Given the description of an element on the screen output the (x, y) to click on. 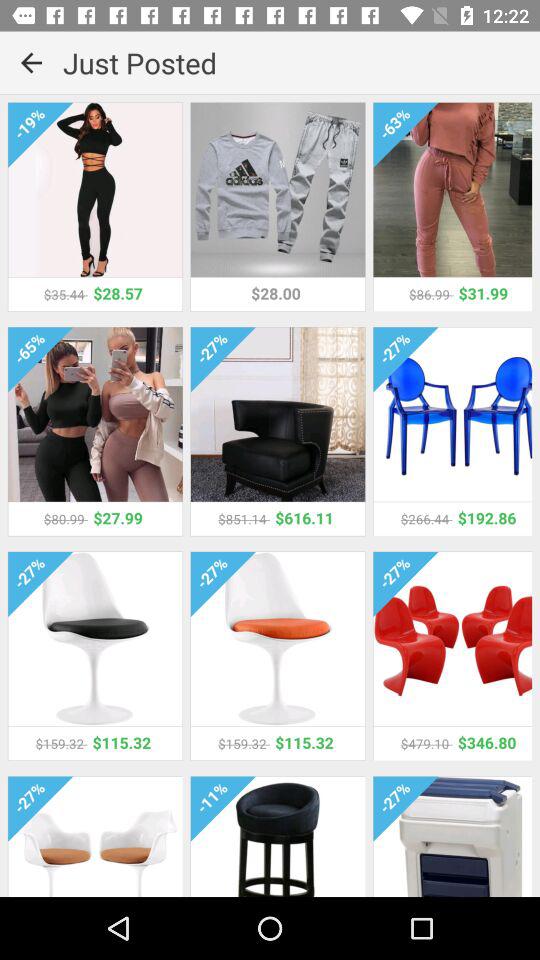
select just posted item (301, 62)
